Given the description of an element on the screen output the (x, y) to click on. 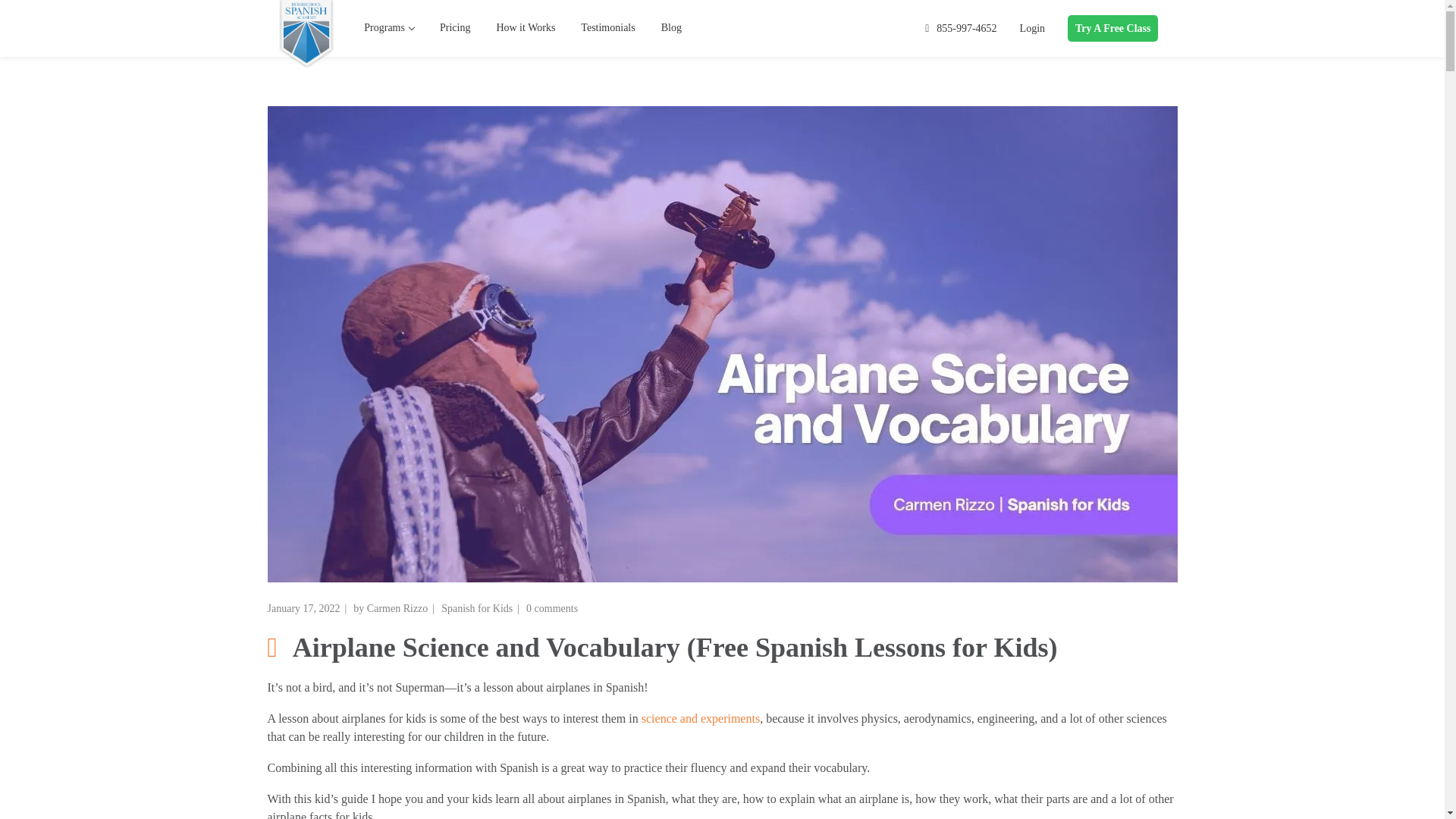
Testimonials (607, 28)
855-997-4652 (964, 28)
Try A Free Class (1112, 28)
Programs (389, 28)
How it Works (525, 28)
Login (1032, 28)
